Given the description of an element on the screen output the (x, y) to click on. 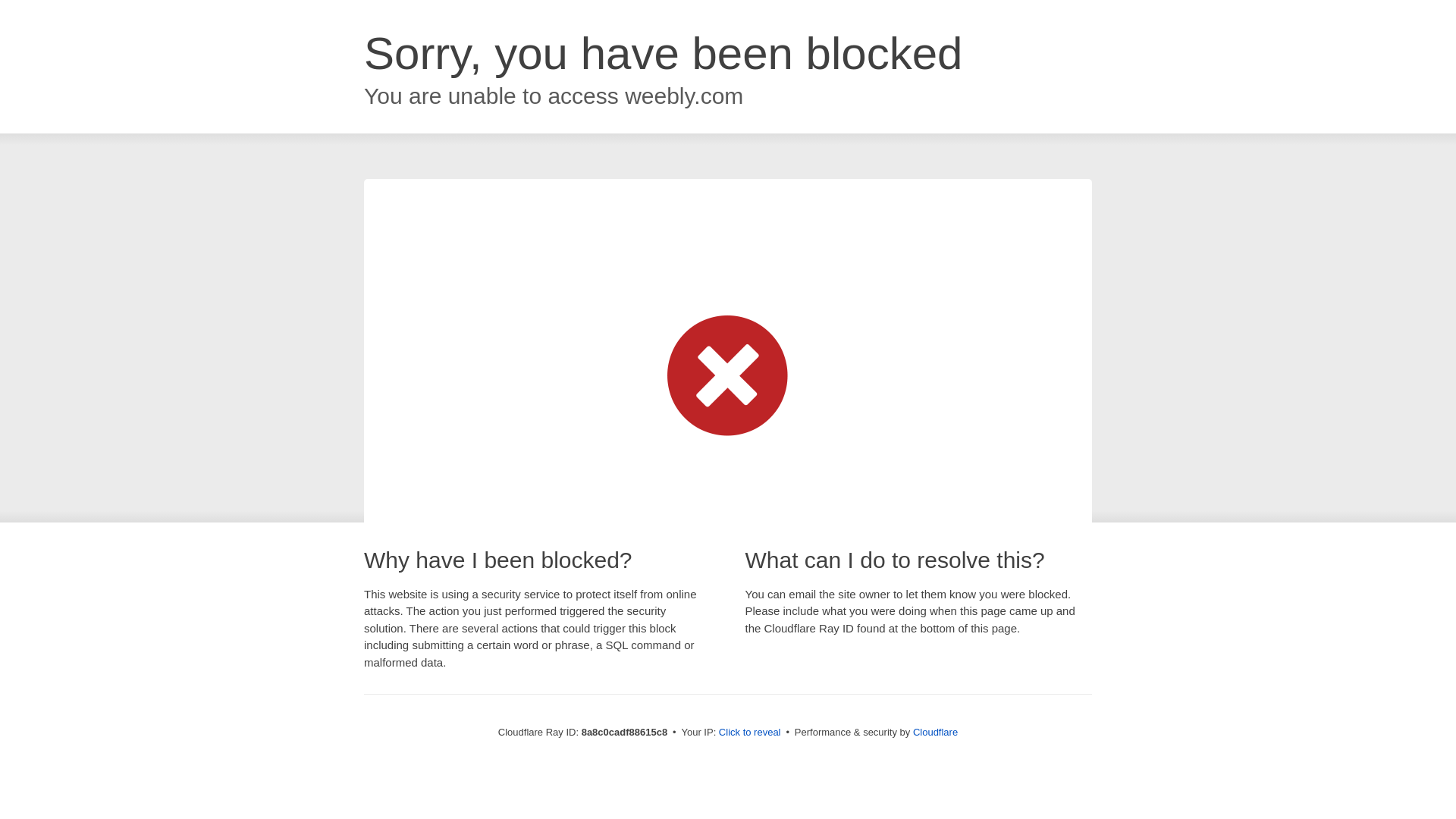
Cloudflare (935, 731)
Click to reveal (749, 732)
